Given the description of an element on the screen output the (x, y) to click on. 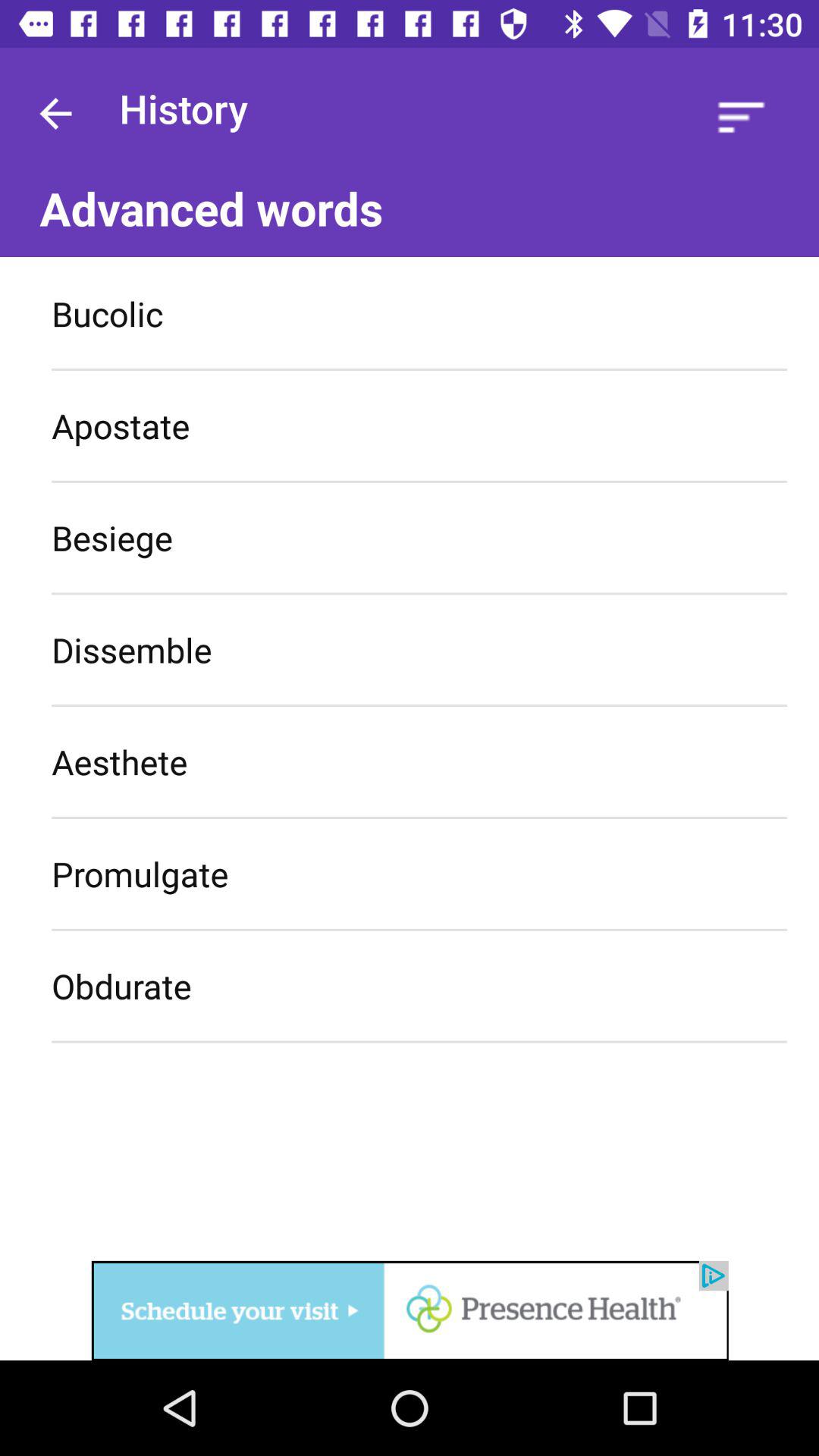
go back (55, 111)
